Given the description of an element on the screen output the (x, y) to click on. 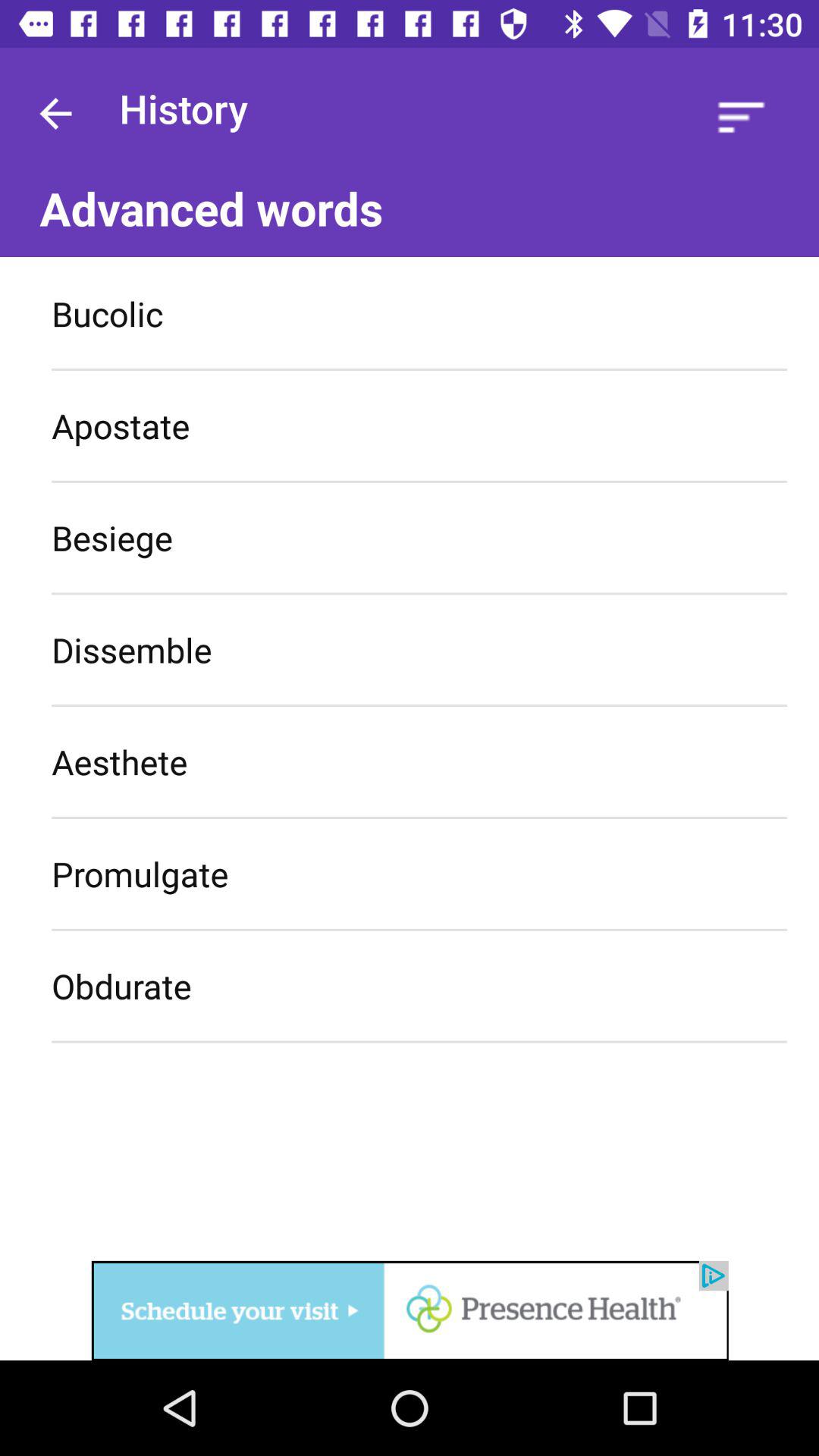
go back (55, 111)
